Given the description of an element on the screen output the (x, y) to click on. 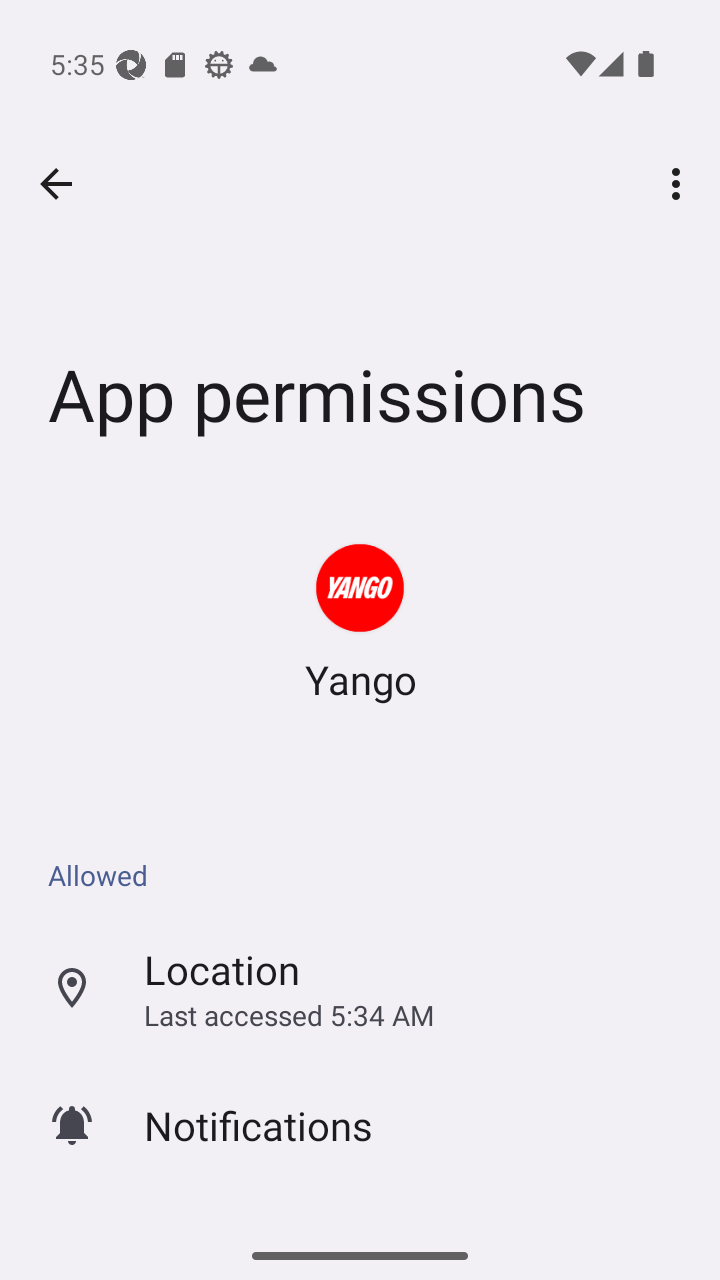
Back (56, 184)
More options (680, 183)
Location Last accessed 5:34 AM (360, 988)
Notifications (360, 1125)
